Given the description of an element on the screen output the (x, y) to click on. 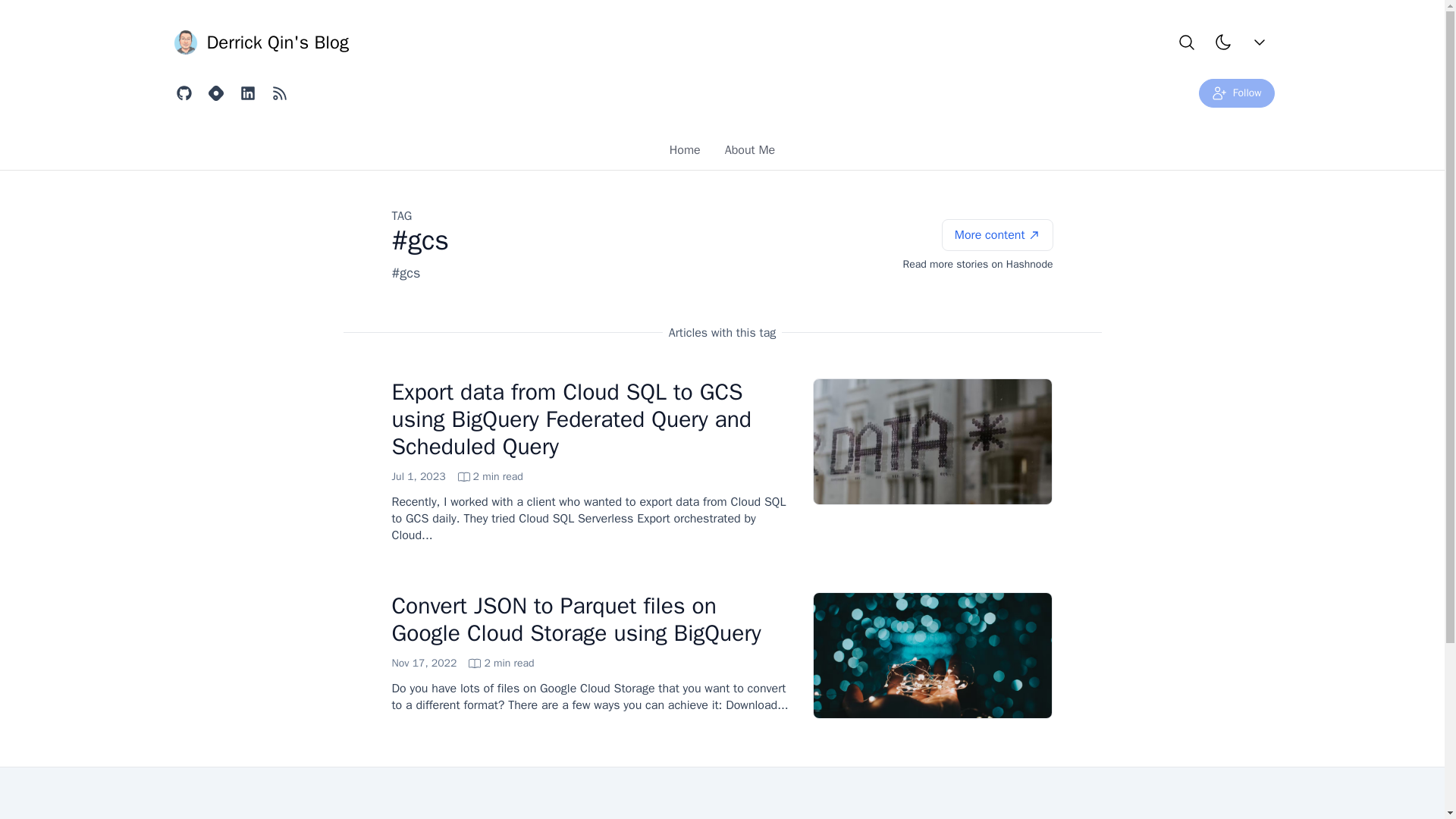
Follow (1236, 92)
Derrick Qin's Blog (721, 150)
Home (258, 42)
More content (456, 476)
